Given the description of an element on the screen output the (x, y) to click on. 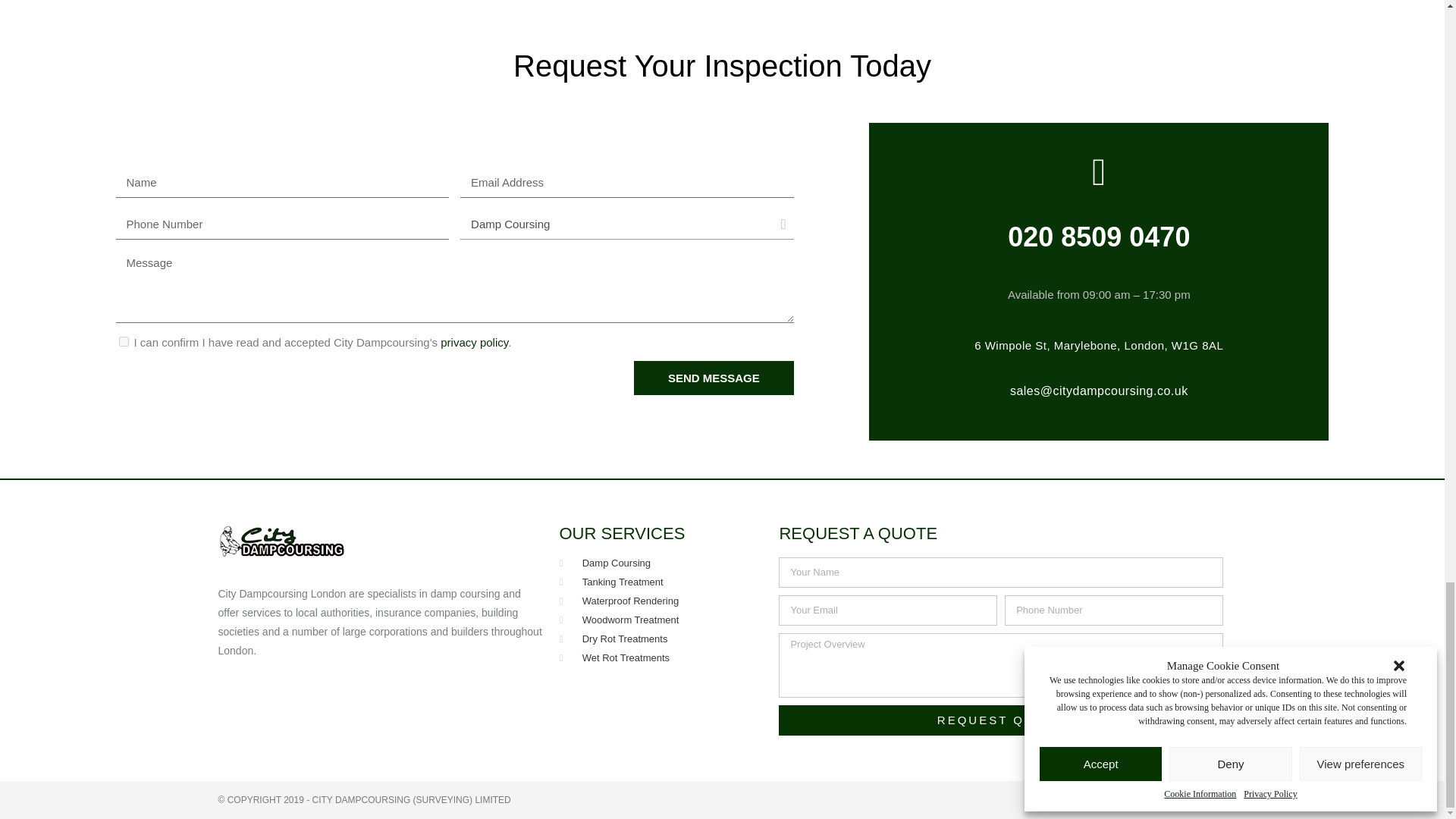
Dry Rot Treatments (653, 638)
Tanking Treatment (653, 582)
Waterproof Rendering (653, 600)
privacy policy (474, 341)
Woodworm Treatment (653, 619)
on (122, 341)
REQUEST QUOTE (1000, 720)
020 8509 0470 (1098, 236)
Damp Coursing (653, 562)
OUR SERVICES (621, 533)
Wet Rot Treatments (653, 657)
SEND MESSAGE (713, 377)
